Given the description of an element on the screen output the (x, y) to click on. 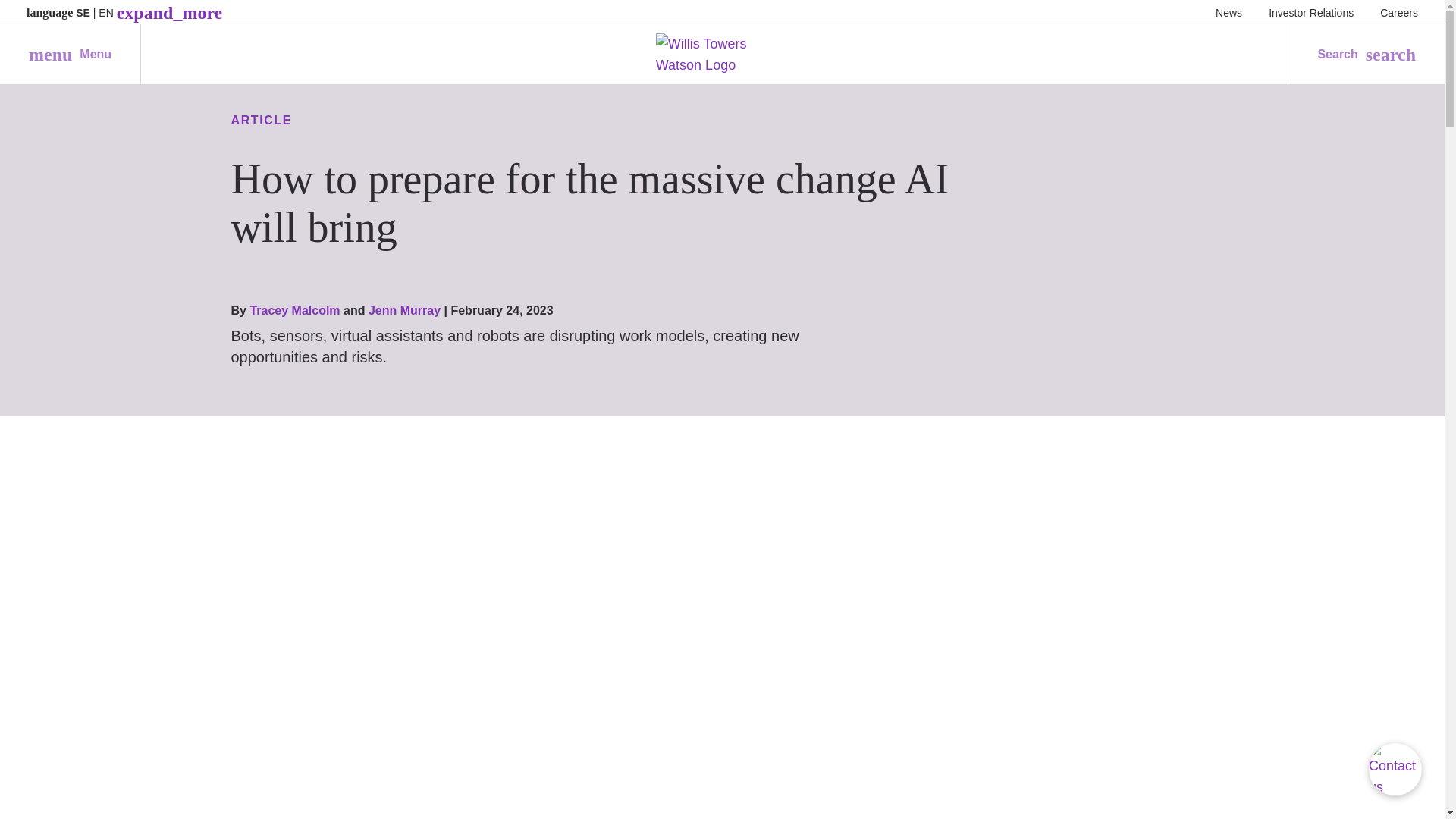
Careers (1399, 12)
Investor Relations (69, 54)
News (1311, 12)
